Given the description of an element on the screen output the (x, y) to click on. 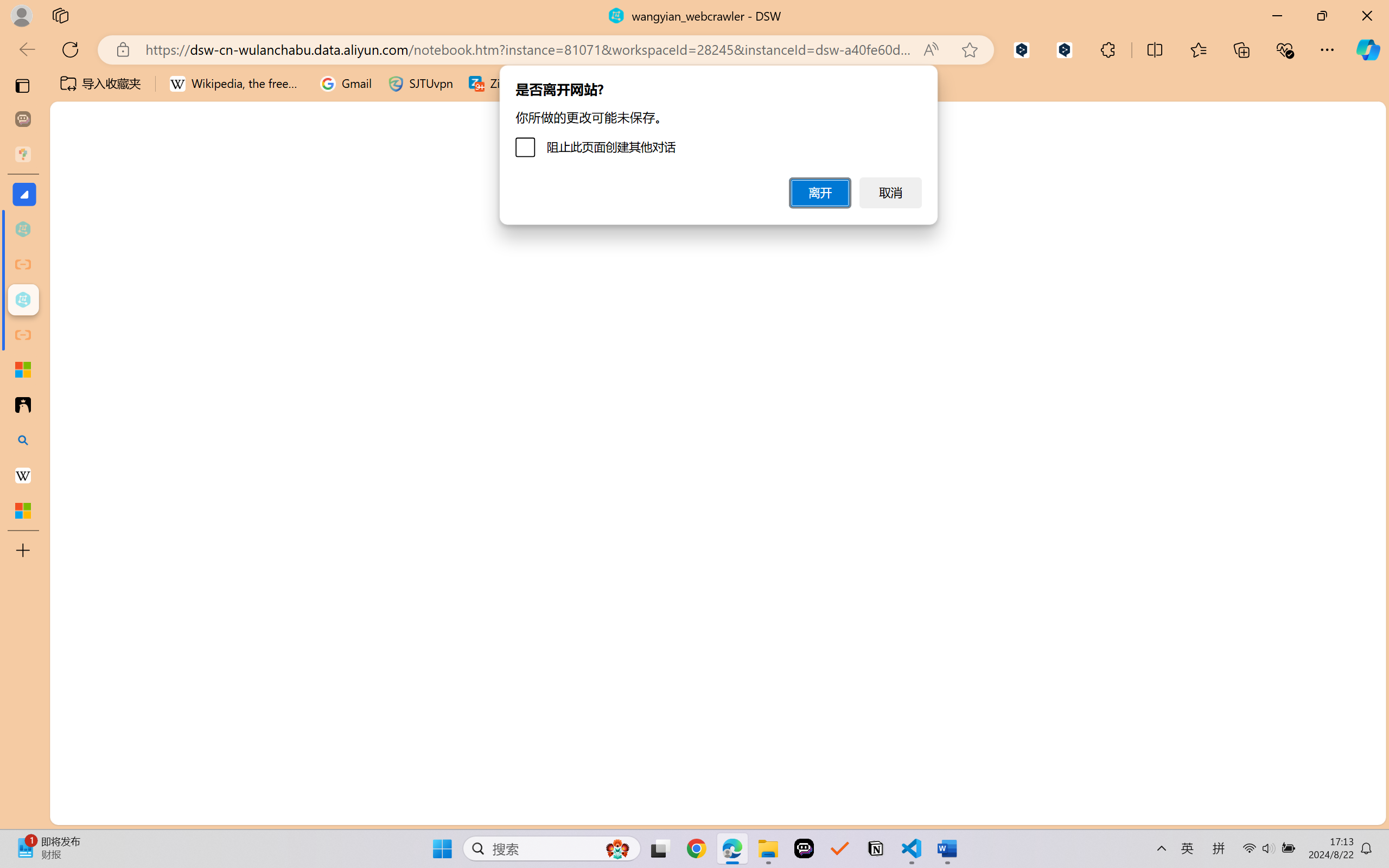
Google Chrome (696, 848)
